Given the description of an element on the screen output the (x, y) to click on. 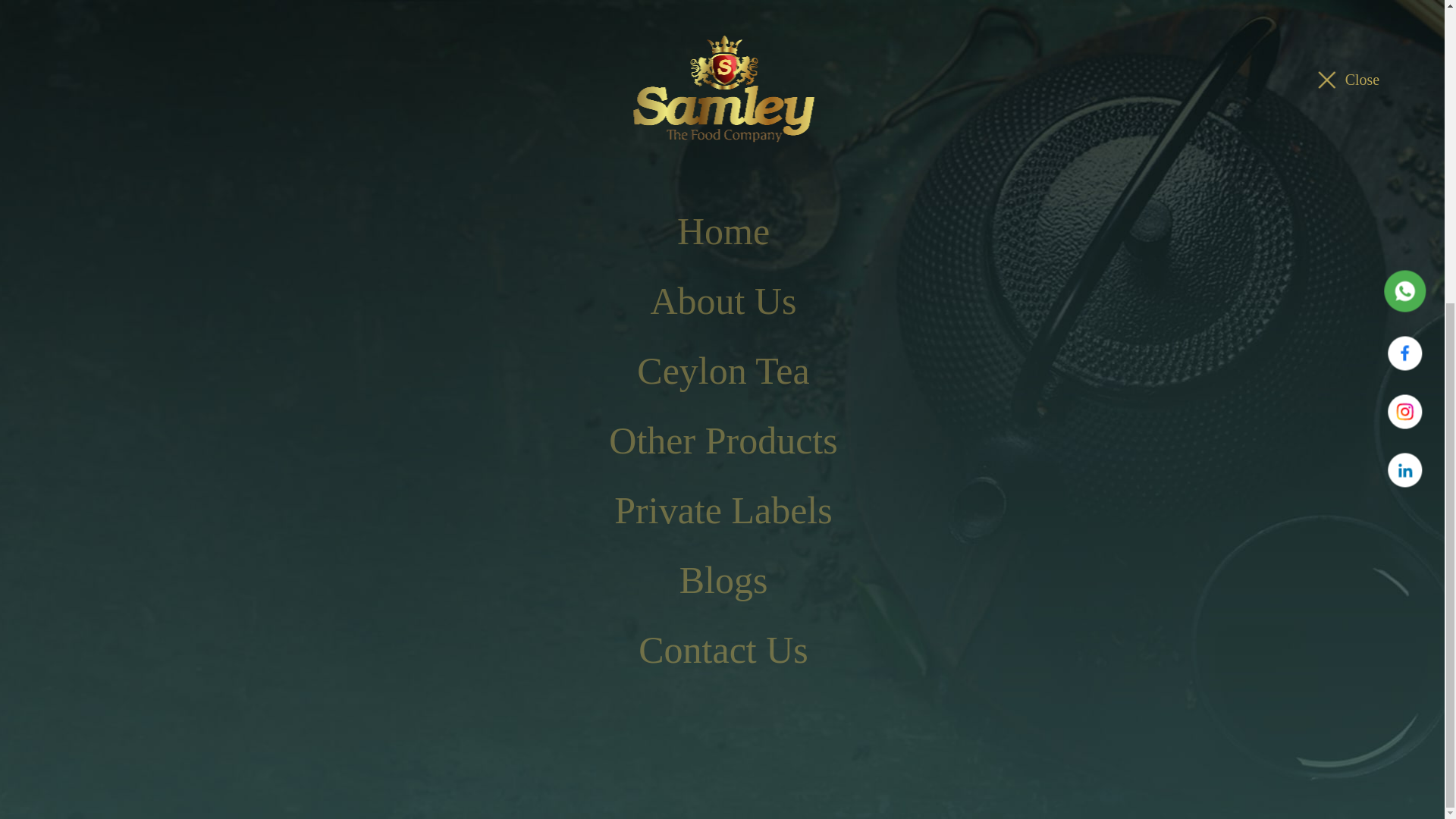
Blogs (717, 614)
Blogs (722, 105)
Private Labels (722, 35)
Blogs (717, 614)
View our products (243, 251)
About Us (717, 447)
Home (717, 405)
Private Labels (722, 35)
Contact Us (722, 174)
Other Products (717, 531)
Private Labels (717, 572)
About Us (717, 447)
Other Products (717, 531)
Contact Us (722, 174)
Ceylon Tea (717, 489)
